Given the description of an element on the screen output the (x, y) to click on. 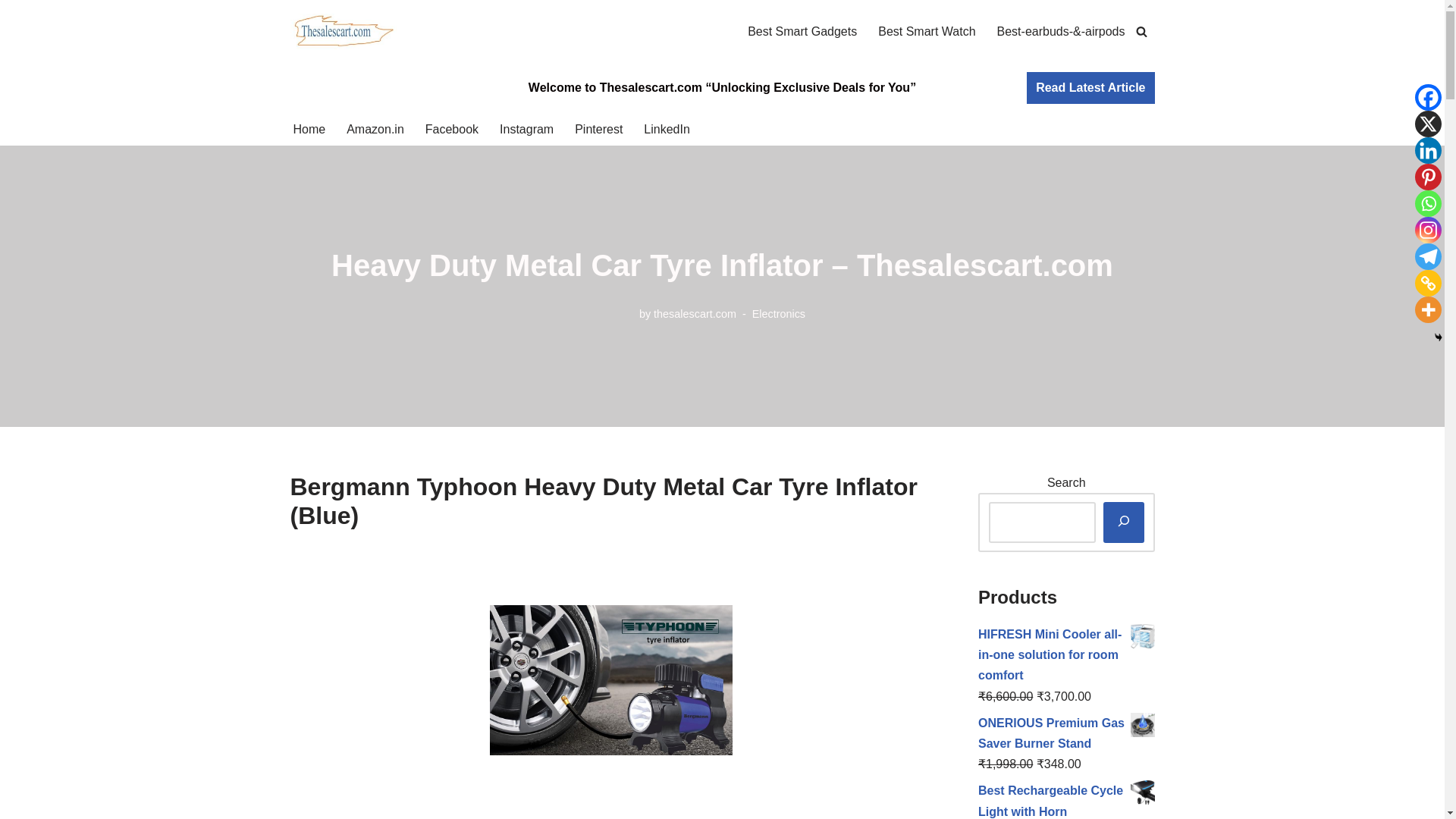
Instagram (1428, 230)
Pinterest (1428, 176)
Skip to content (11, 31)
X (1428, 123)
Pinterest (599, 128)
Read Latest Article (1090, 88)
Linkedin (1428, 150)
Facebook (1428, 97)
Instagram (526, 128)
Facebook (452, 128)
Copy Link (1428, 283)
Whatsapp (1428, 203)
Best Smart Watch (926, 31)
Posts by thesalescart.com (694, 313)
Home (308, 128)
